Given the description of an element on the screen output the (x, y) to click on. 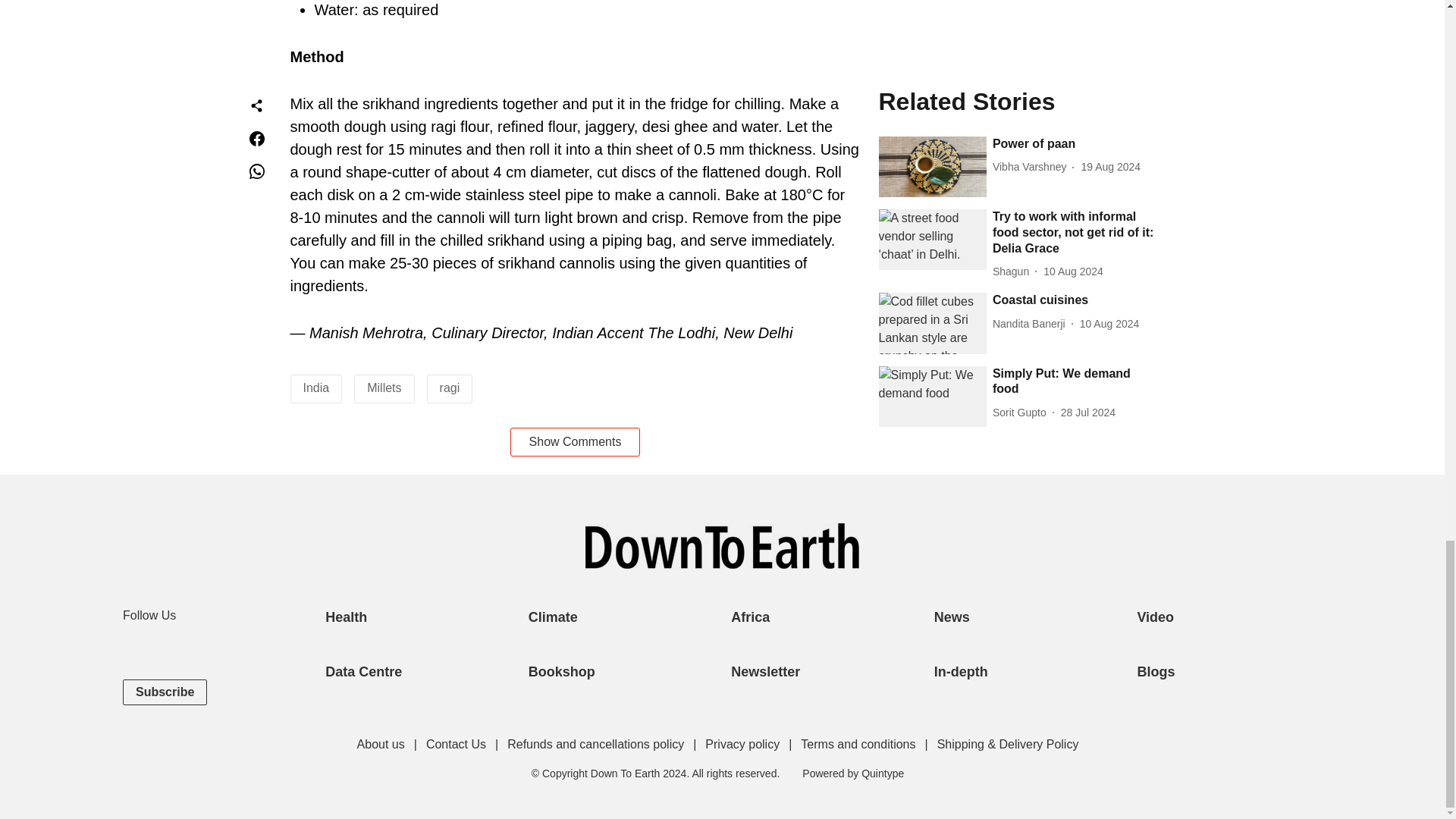
Millets (383, 387)
Show Comments (575, 441)
ragi (449, 387)
India (316, 387)
